Given the description of an element on the screen output the (x, y) to click on. 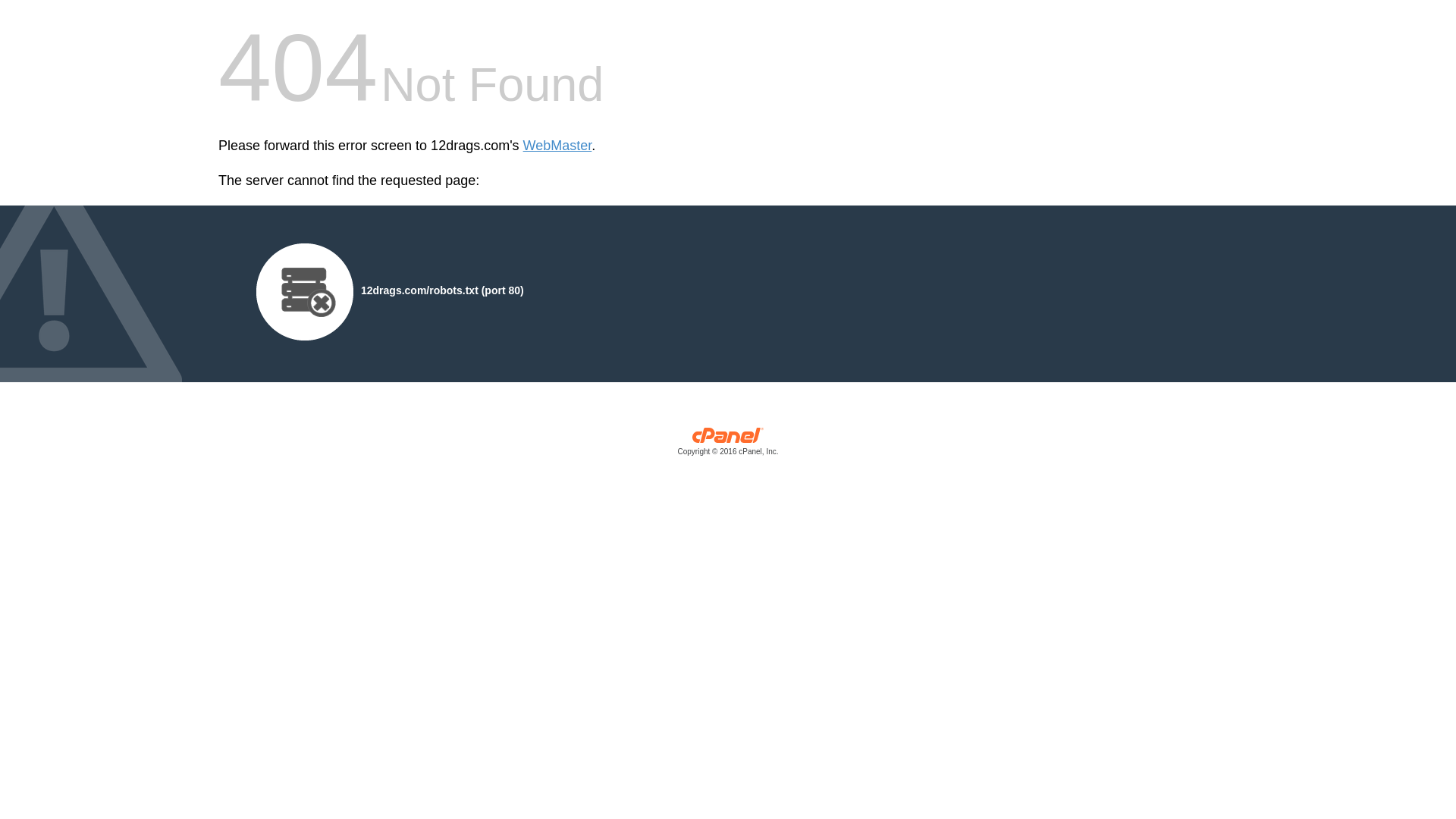
WebMaster Element type: text (557, 145)
